Given the description of an element on the screen output the (x, y) to click on. 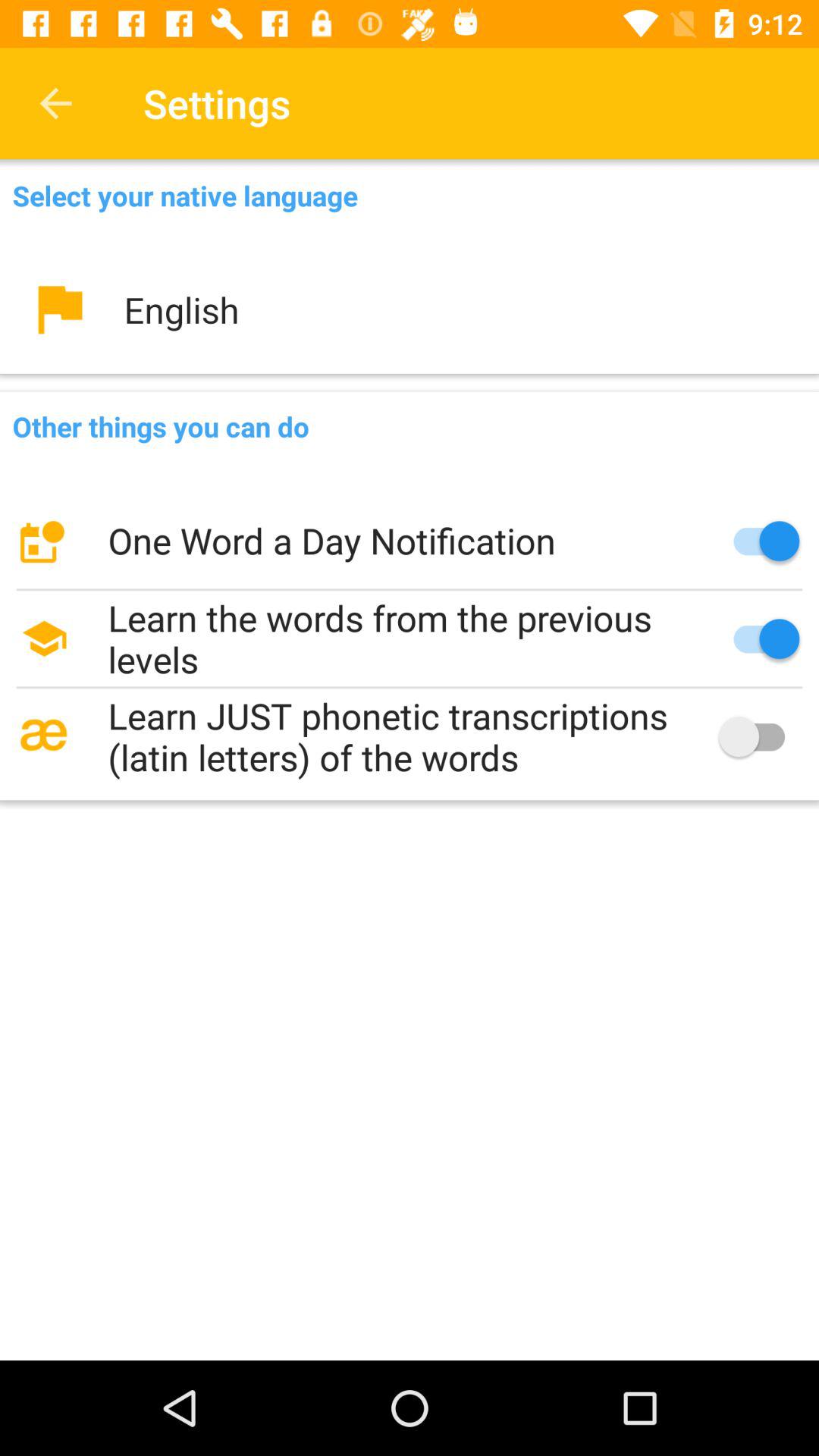
click item above the other things you item (409, 309)
